Given the description of an element on the screen output the (x, y) to click on. 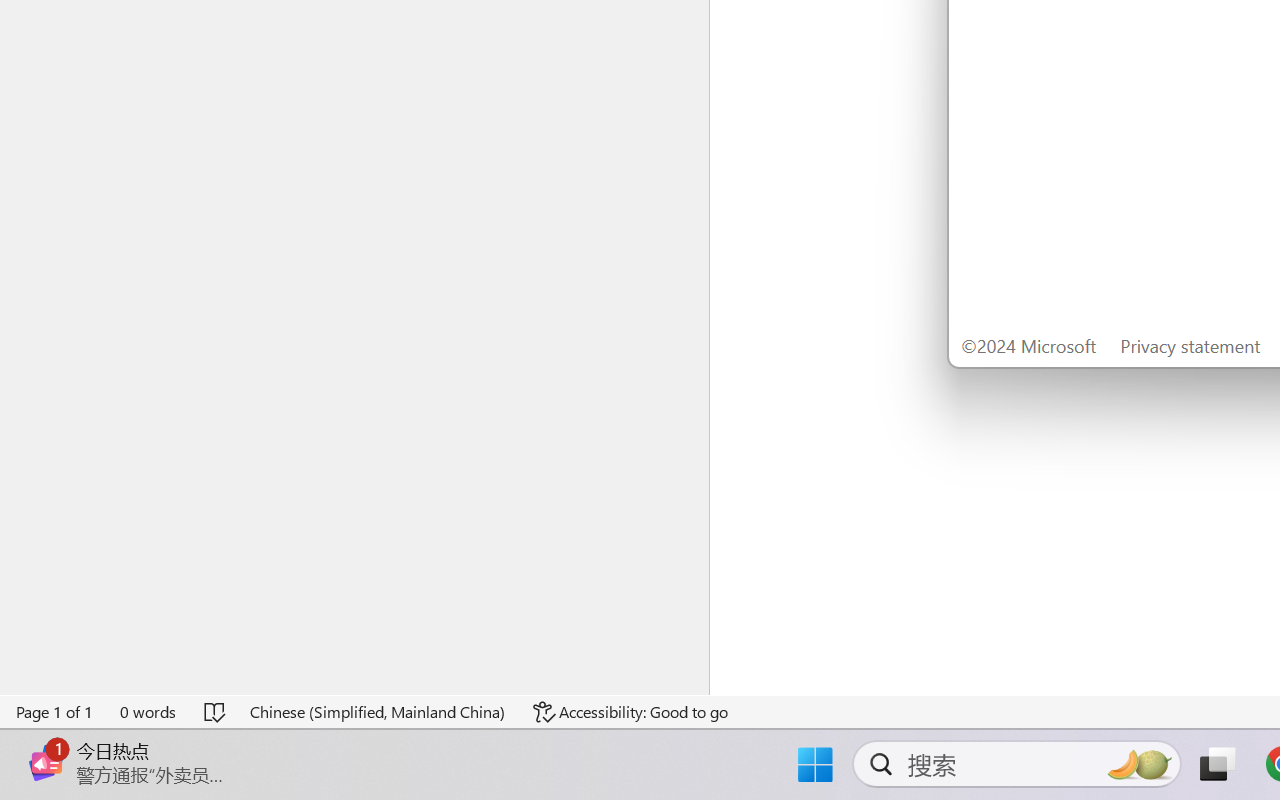
Language Chinese (Simplified, Mainland China) (378, 712)
